Given the description of an element on the screen output the (x, y) to click on. 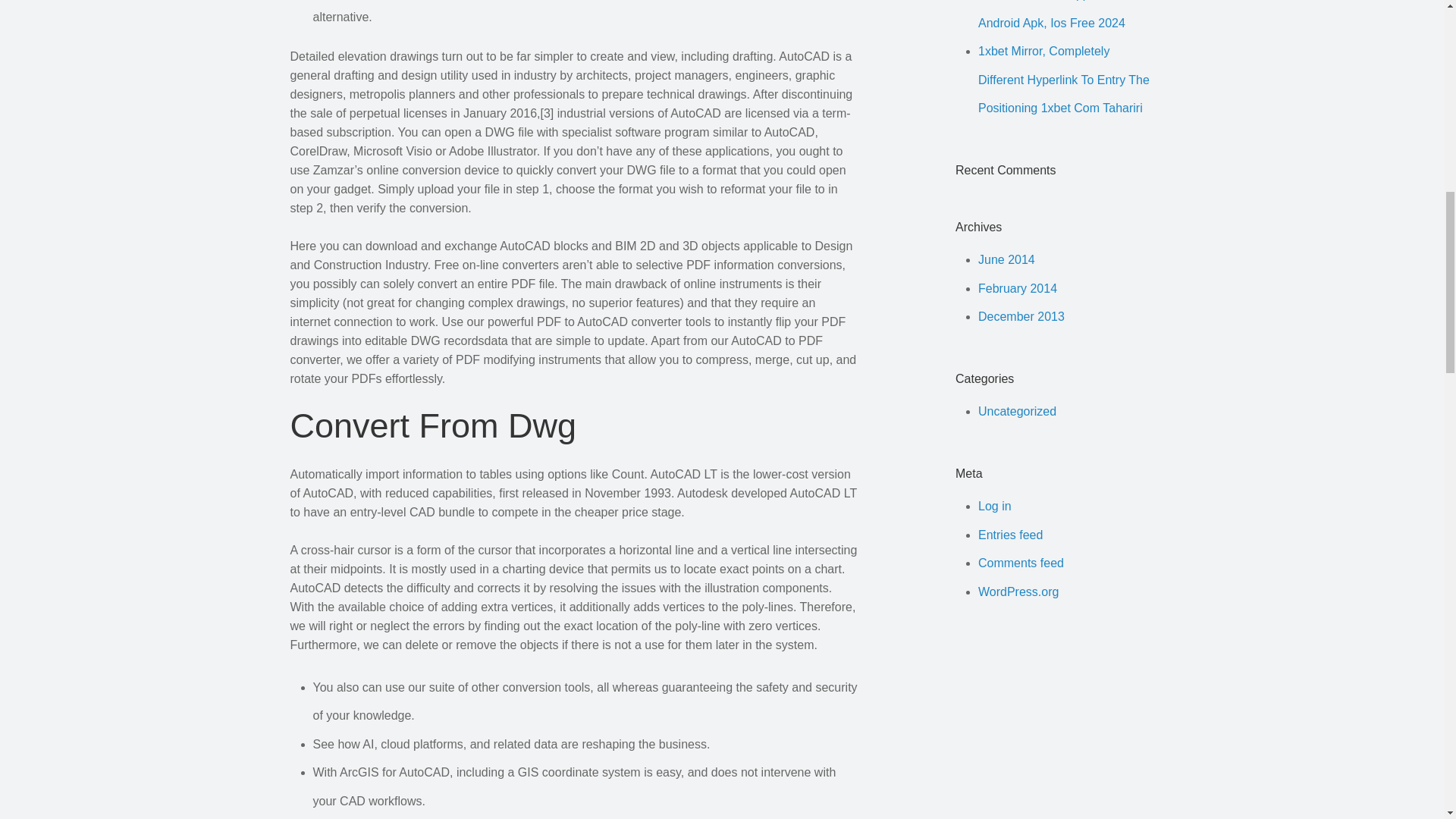
WordPress.org (1018, 591)
February 2014 (1017, 287)
June 2014 (1006, 259)
1xbet Cell 1xbet App Obtain Android Apk, Ios Free 2024 (1053, 14)
Entries feed (1010, 534)
Uncategorized (1017, 410)
December 2013 (1021, 316)
Log in (994, 505)
Comments feed (1021, 562)
